Given the description of an element on the screen output the (x, y) to click on. 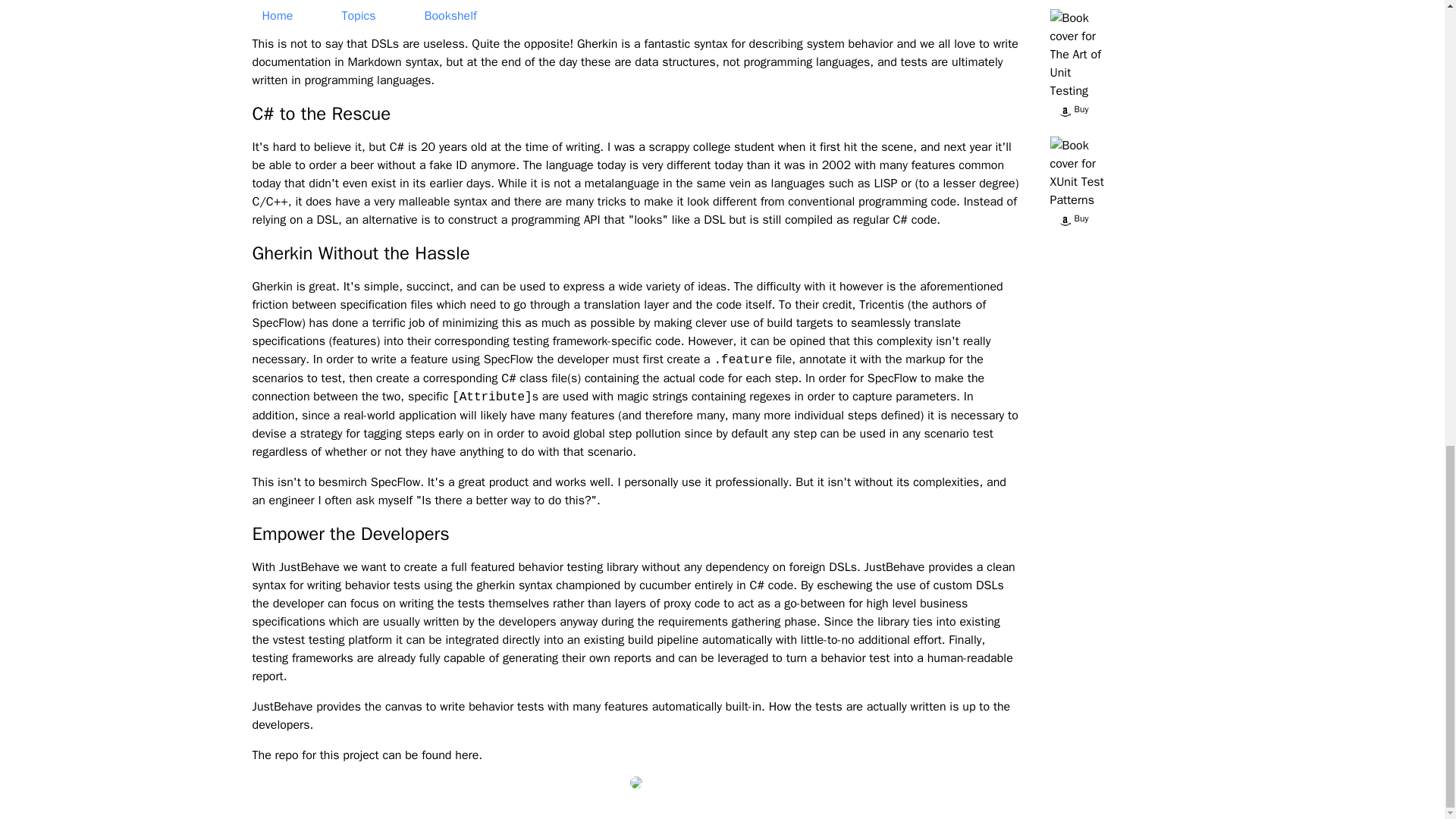
here (466, 754)
cucumber (664, 585)
tagging (382, 433)
